Given the description of an element on the screen output the (x, y) to click on. 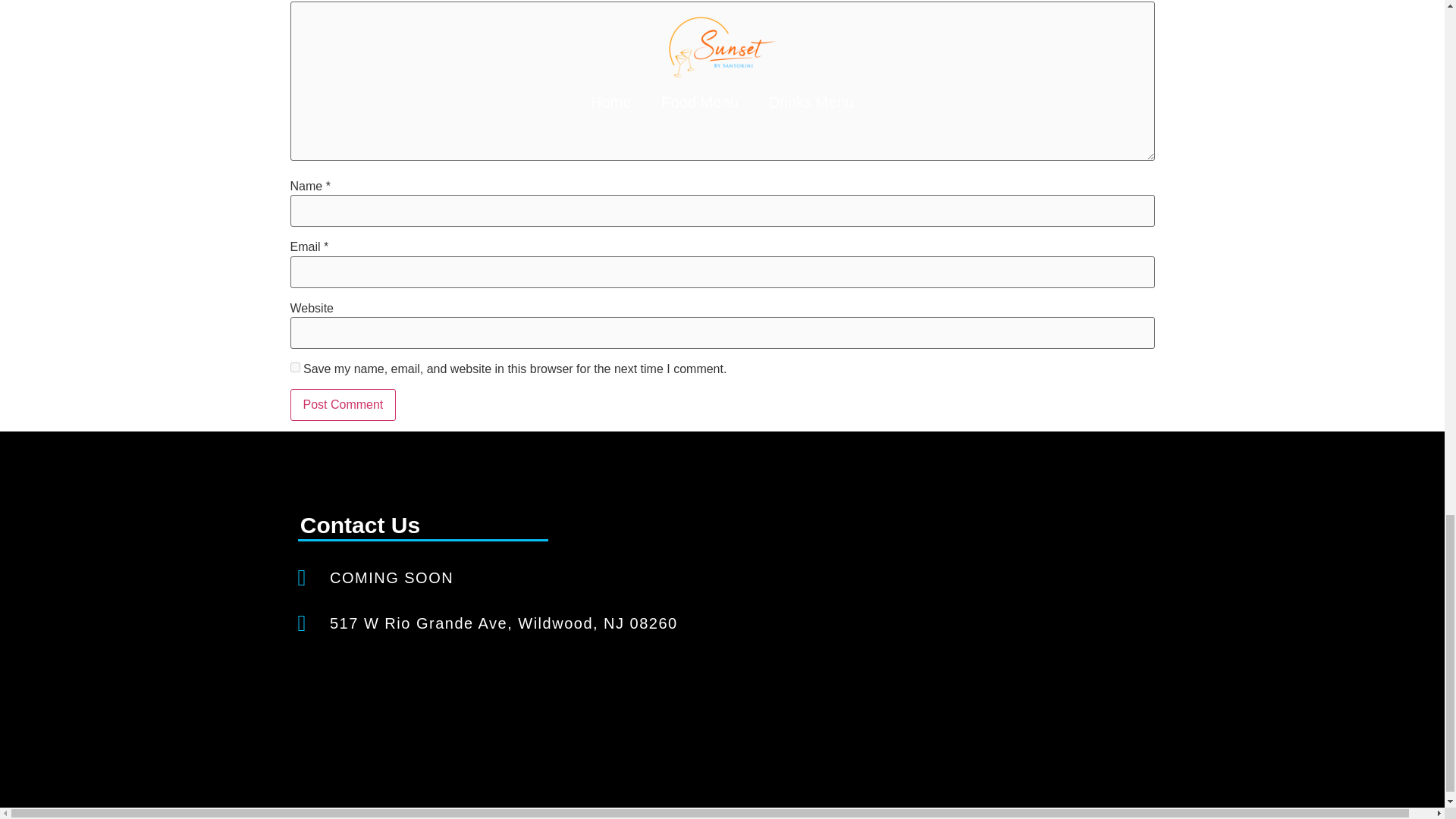
Post Comment (342, 404)
yes (294, 367)
517 w rio grande ave (938, 624)
Post Comment (342, 404)
